Given the description of an element on the screen output the (x, y) to click on. 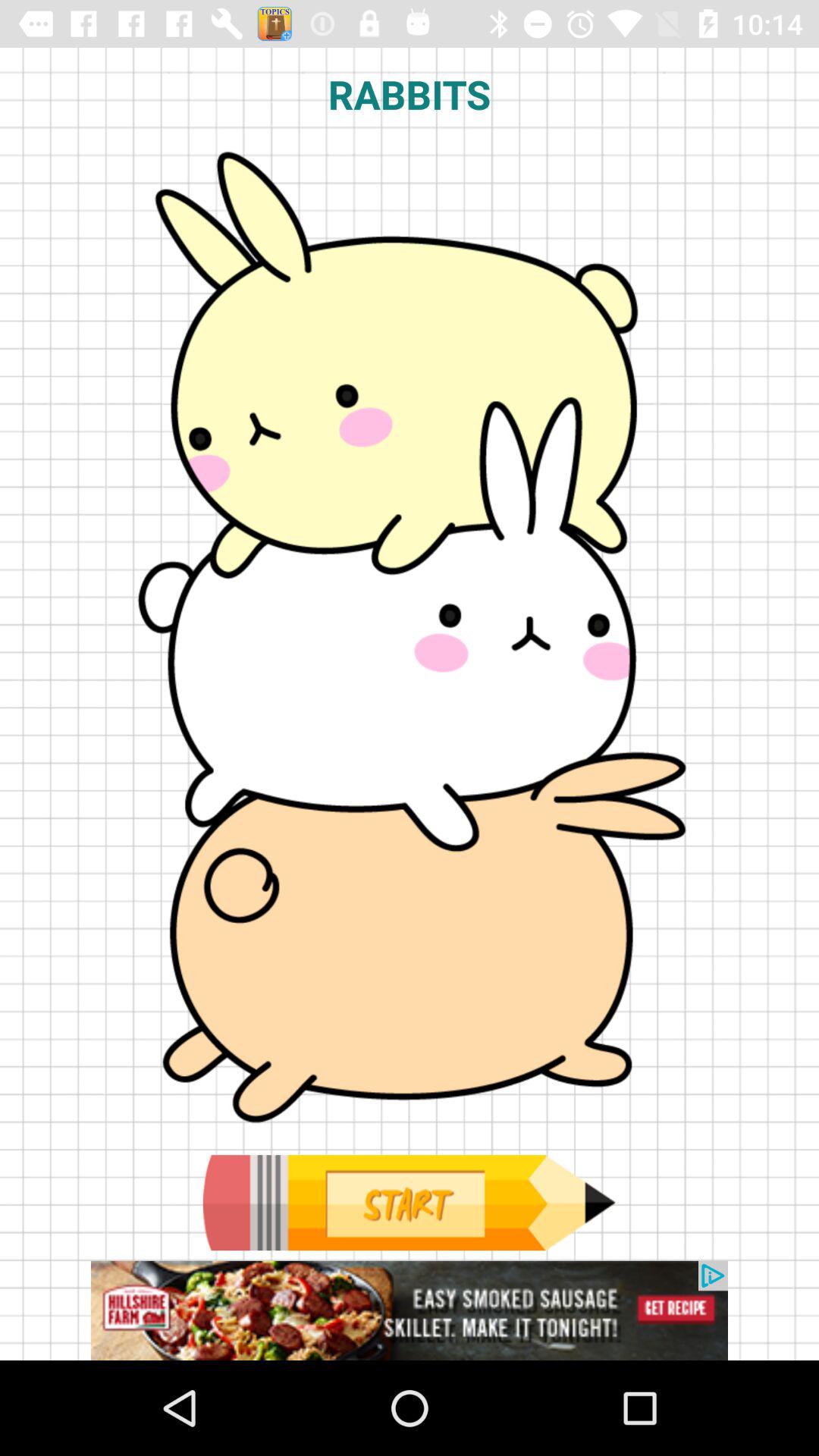
begin to start (409, 1202)
